Given the description of an element on the screen output the (x, y) to click on. 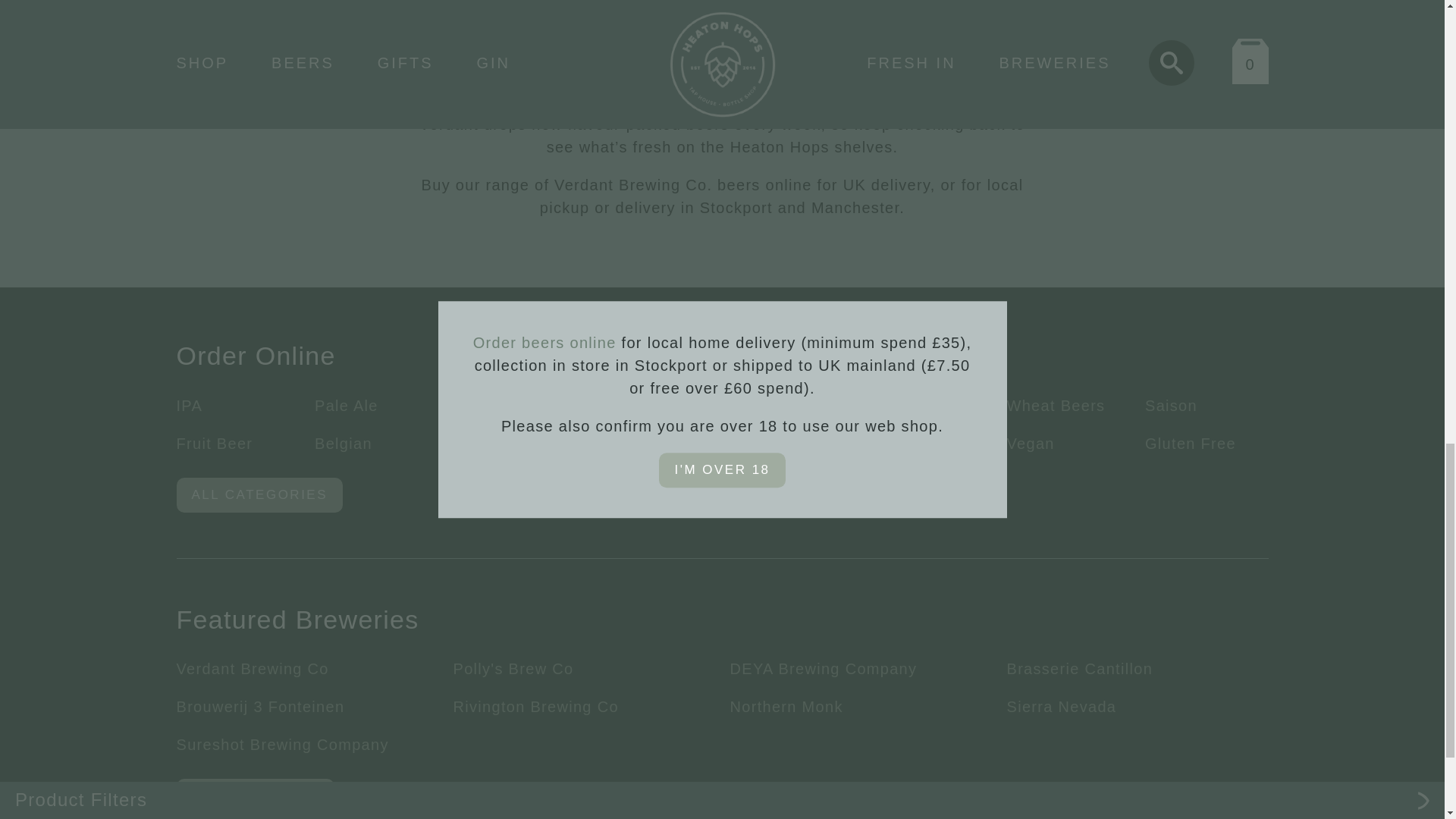
Pale Ale (346, 405)
Cider (473, 443)
Saison (1170, 405)
Wheat Beers (1056, 405)
Belgian (343, 443)
Lager (474, 405)
Lambic (895, 405)
Stout (749, 405)
Whisky (756, 443)
Fruit Beer (213, 443)
